Given the description of an element on the screen output the (x, y) to click on. 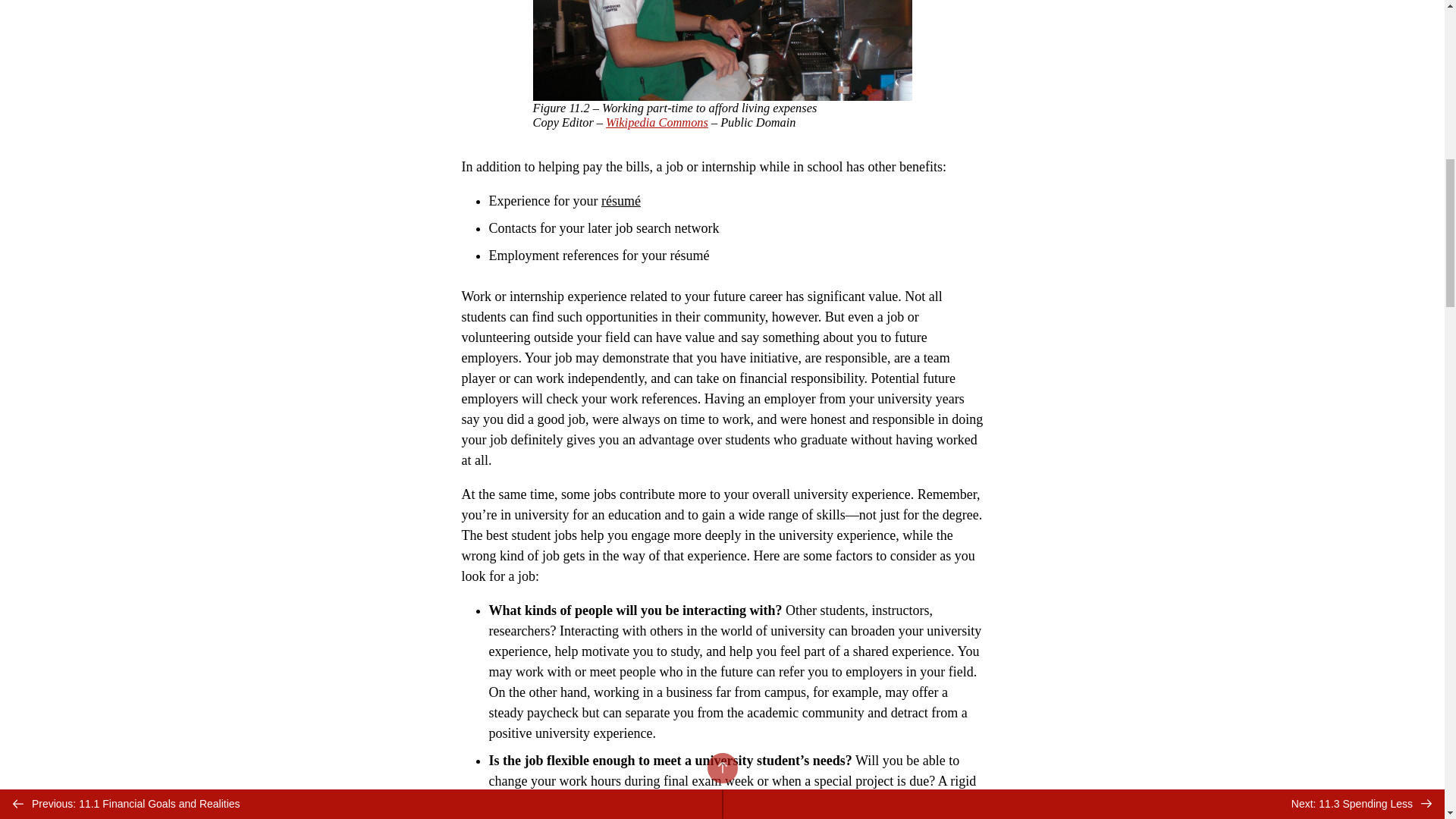
Wikipedia Commons (656, 122)
